Given the description of an element on the screen output the (x, y) to click on. 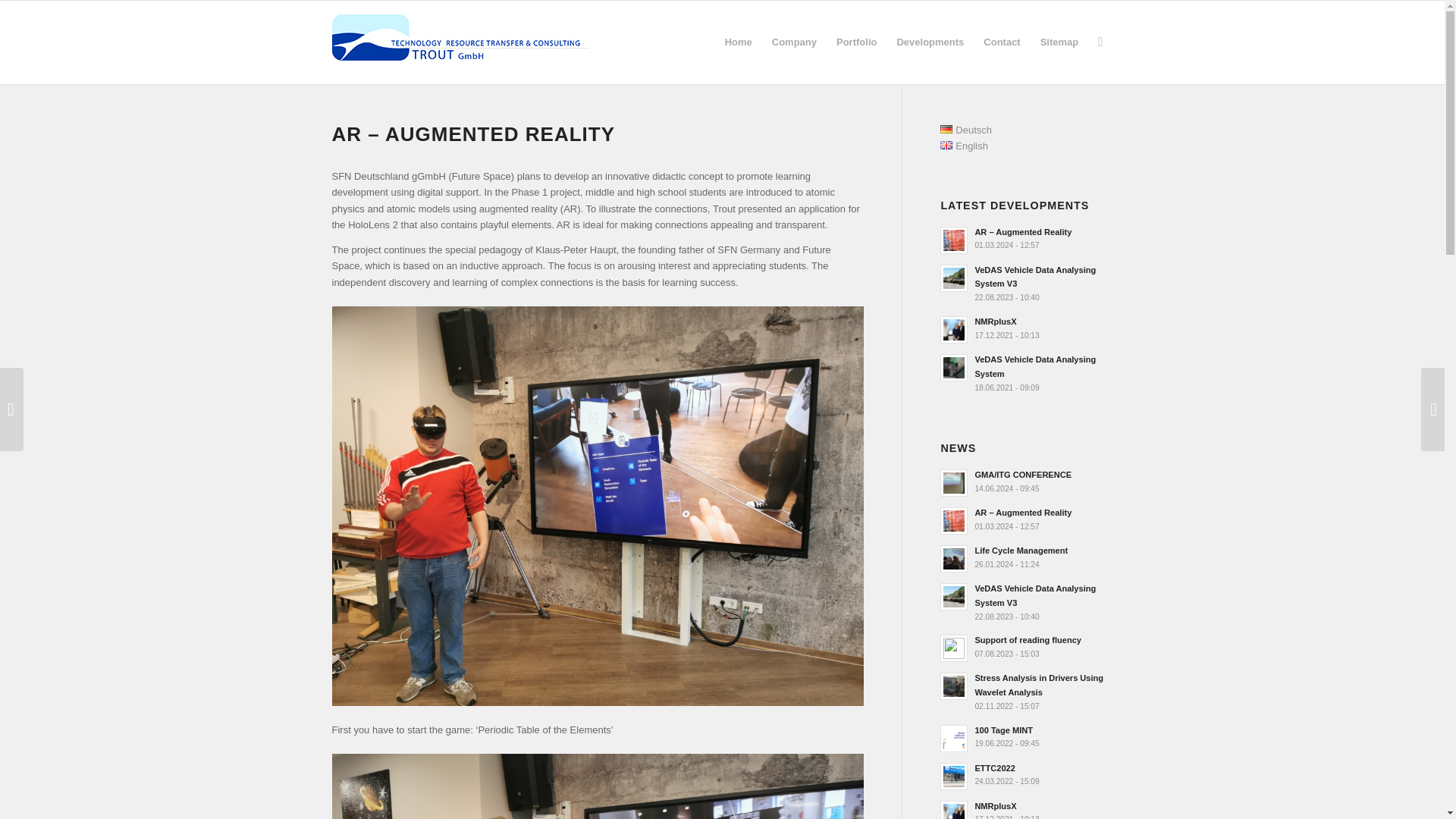
NMRplusX (1026, 327)
100 Tage MINT (1026, 557)
VeDAS Vehicle Data Analysing System V3 (1026, 736)
Developments (1026, 283)
English (930, 42)
